Given the description of an element on the screen output the (x, y) to click on. 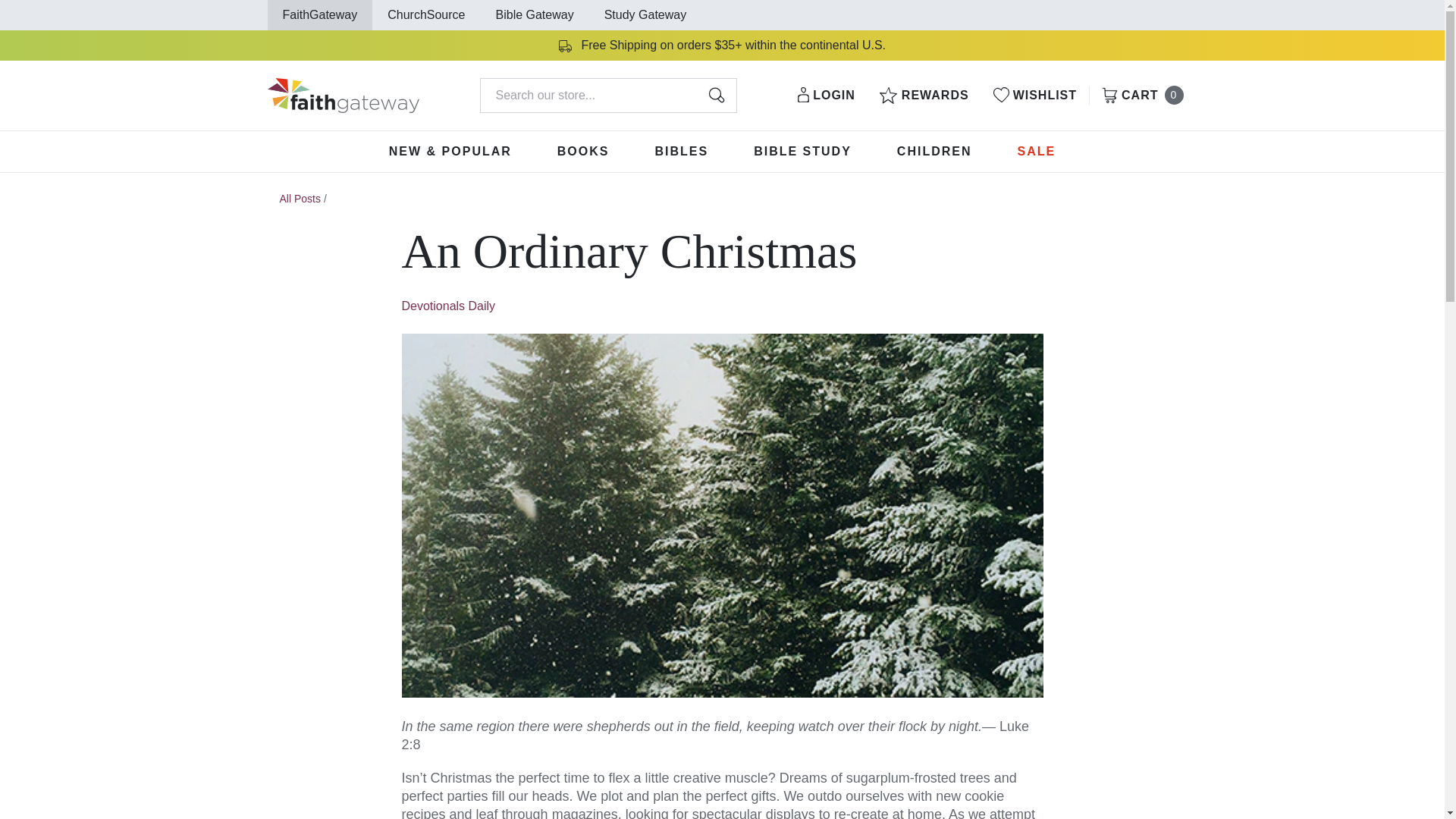
Bible Gateway (534, 14)
Reset (1139, 95)
FaithGateway (698, 94)
WISHLIST (319, 14)
Search (1034, 95)
Study Gateway (716, 95)
Devotionals Daily (645, 14)
LOGIN (448, 305)
BOOKS (826, 95)
All Posts (583, 151)
REWARDS (299, 198)
ChurchSource (924, 95)
